Given the description of an element on the screen output the (x, y) to click on. 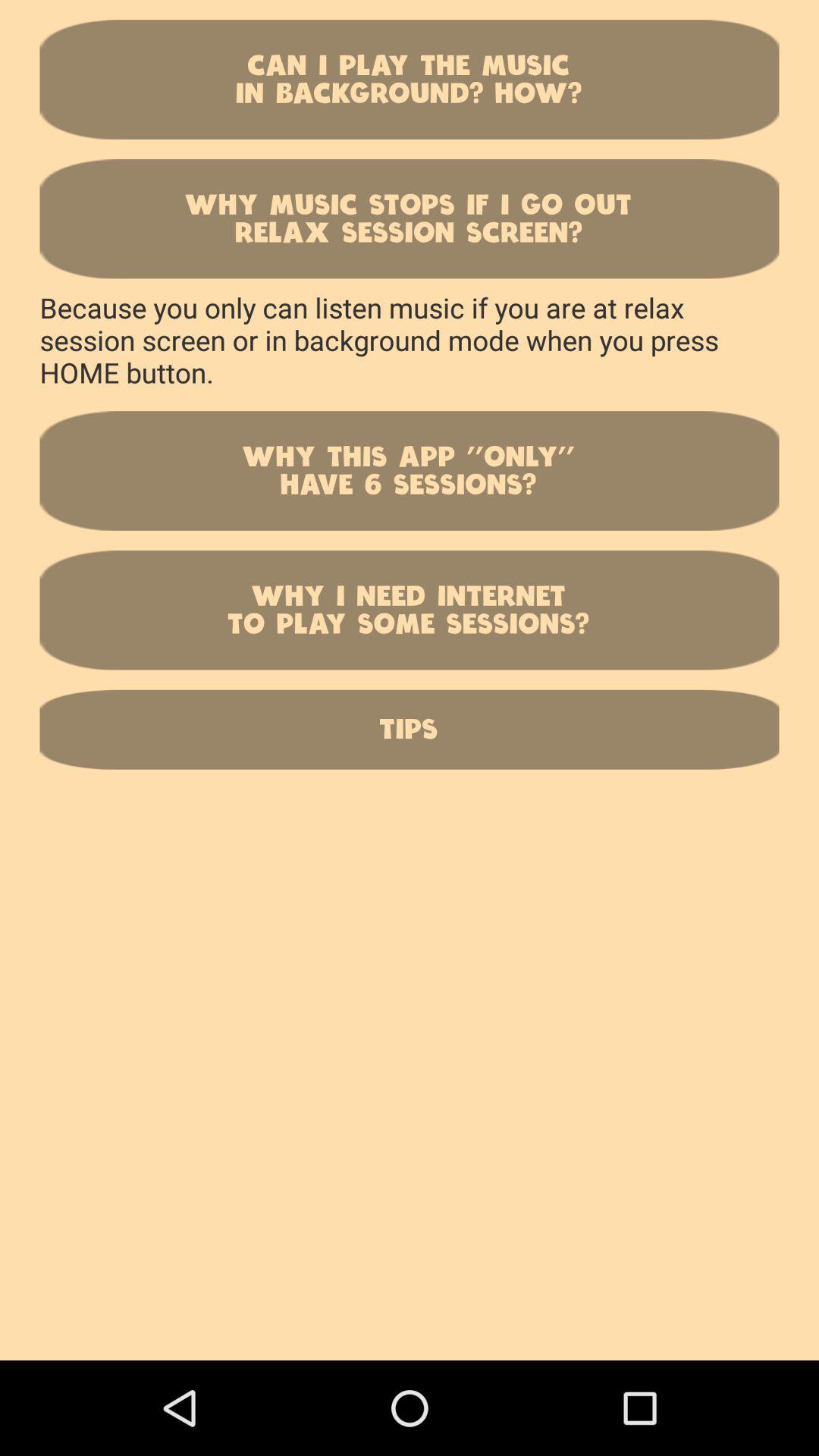
flip until the why this app button (409, 470)
